Given the description of an element on the screen output the (x, y) to click on. 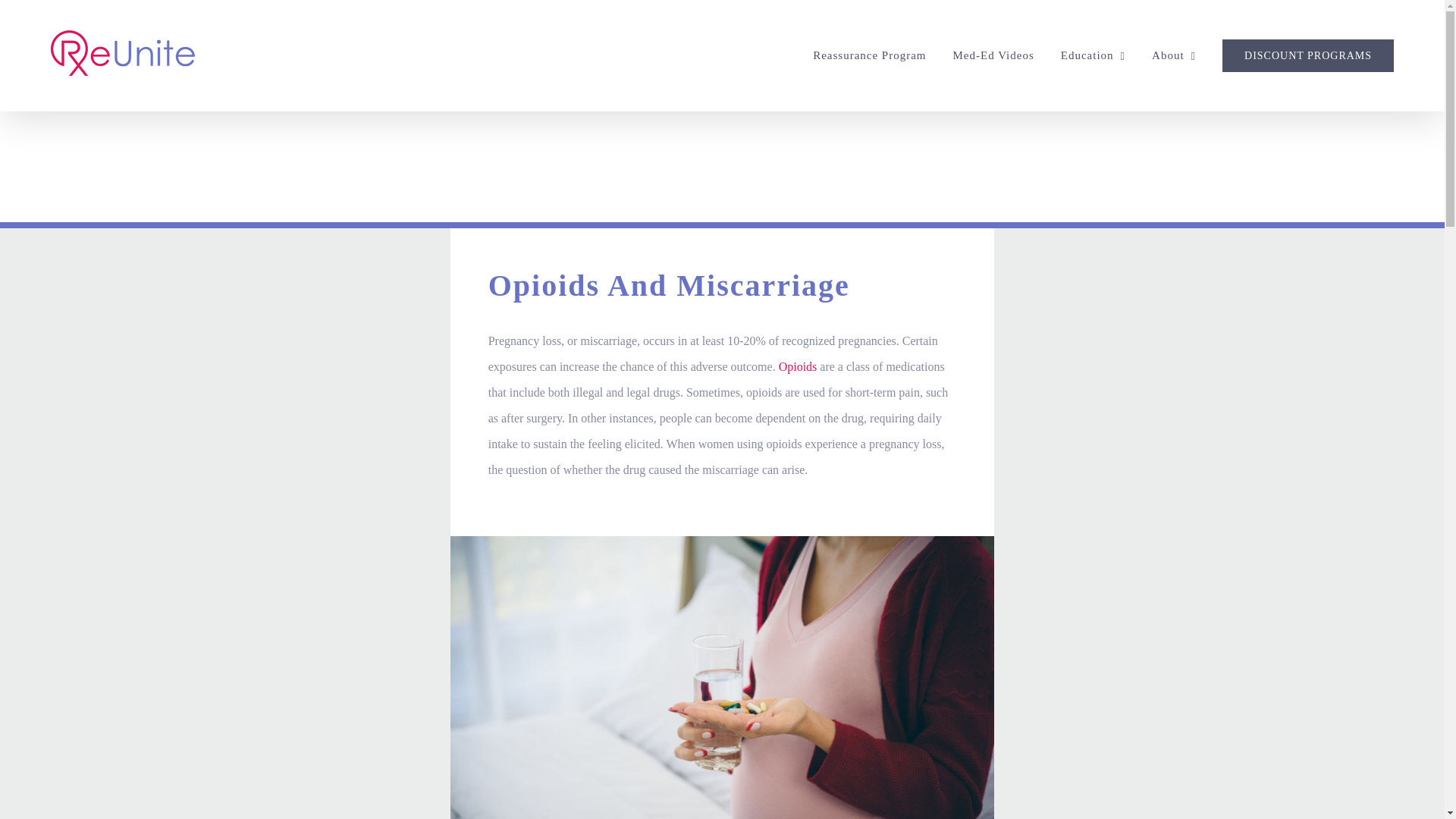
Opioids (797, 366)
DISCOUNT PROGRAMS (1308, 55)
Reassurance Program (869, 55)
